Given the description of an element on the screen output the (x, y) to click on. 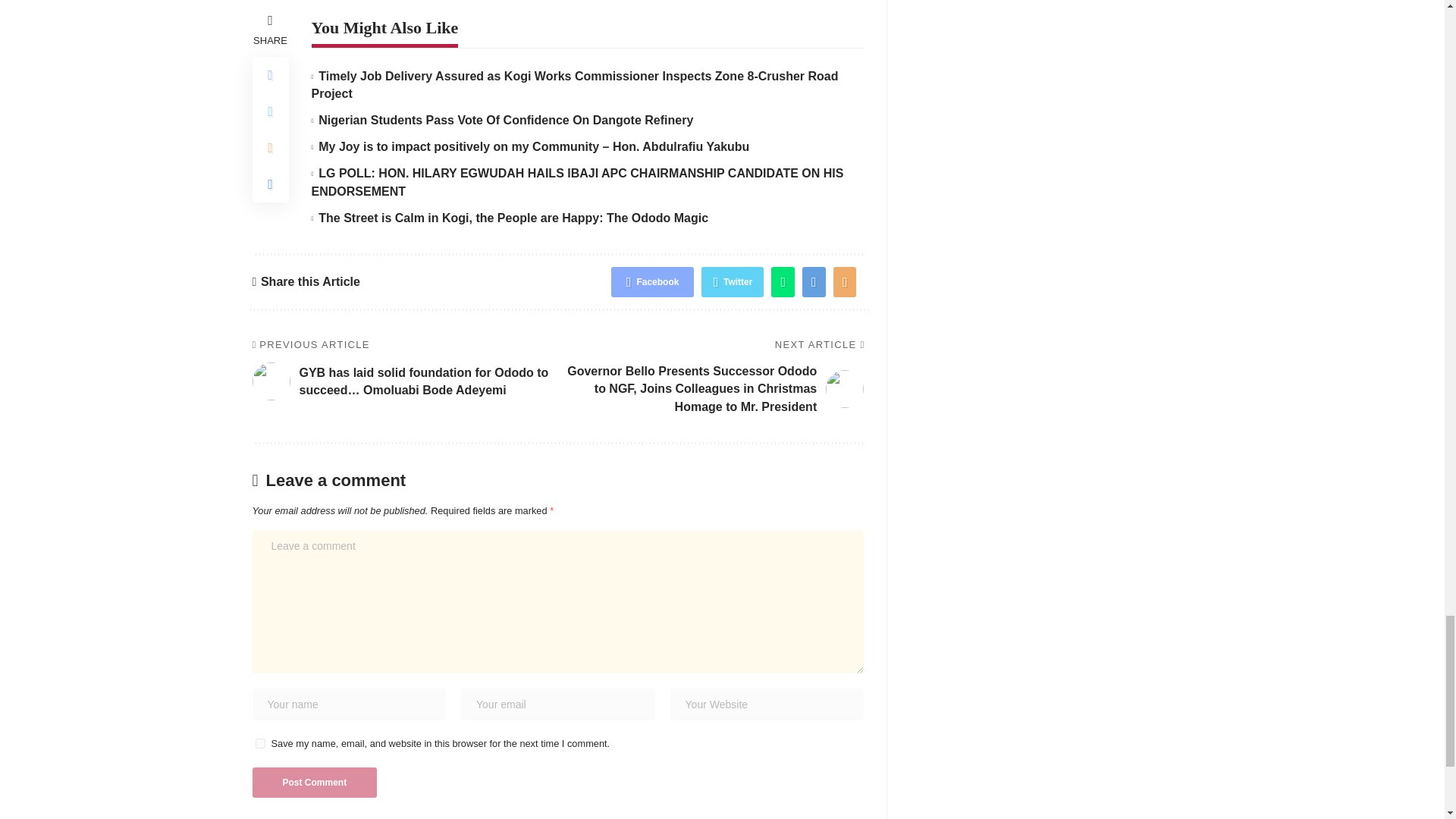
Post Comment (314, 782)
yes (259, 743)
